Given the description of an element on the screen output the (x, y) to click on. 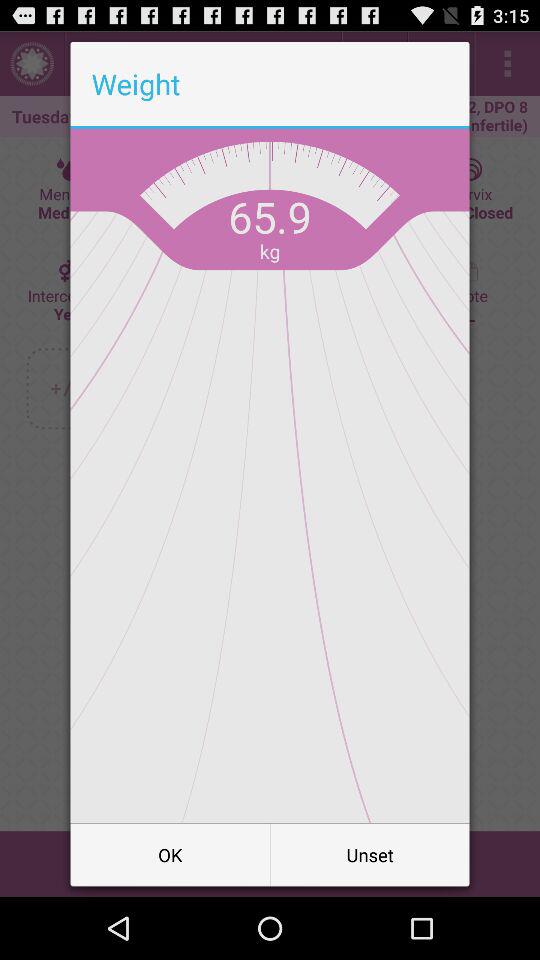
scroll until unset (369, 854)
